Given the description of an element on the screen output the (x, y) to click on. 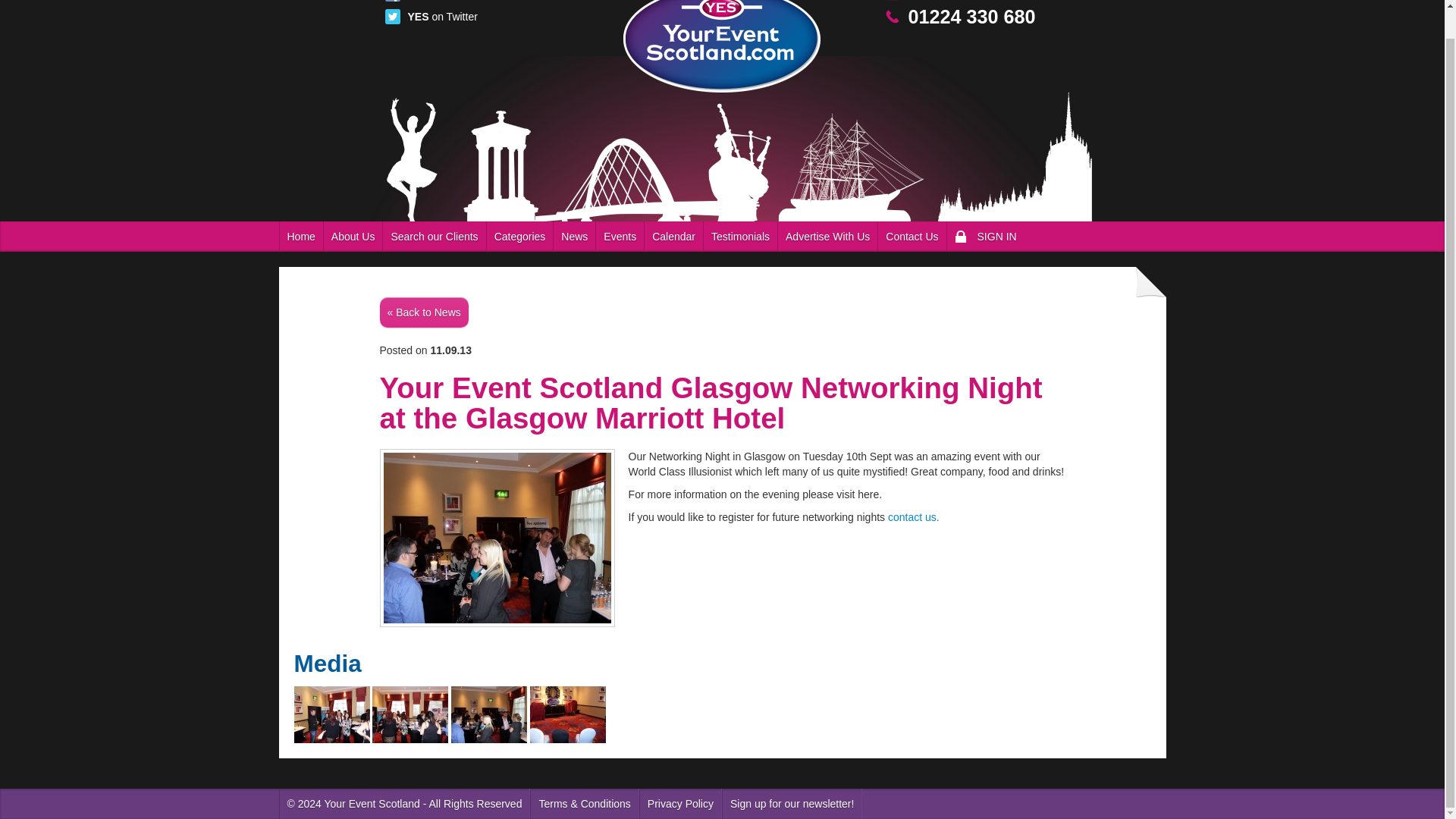
YES on Twitter (442, 16)
Search our Clients (433, 236)
Events (620, 236)
Calendar (673, 236)
Testimonials (740, 236)
Your Event Scotland on Twitter (442, 16)
Home (300, 236)
Categories (520, 236)
Your Event Scotland (722, 46)
Calendar (673, 236)
